Given the description of an element on the screen output the (x, y) to click on. 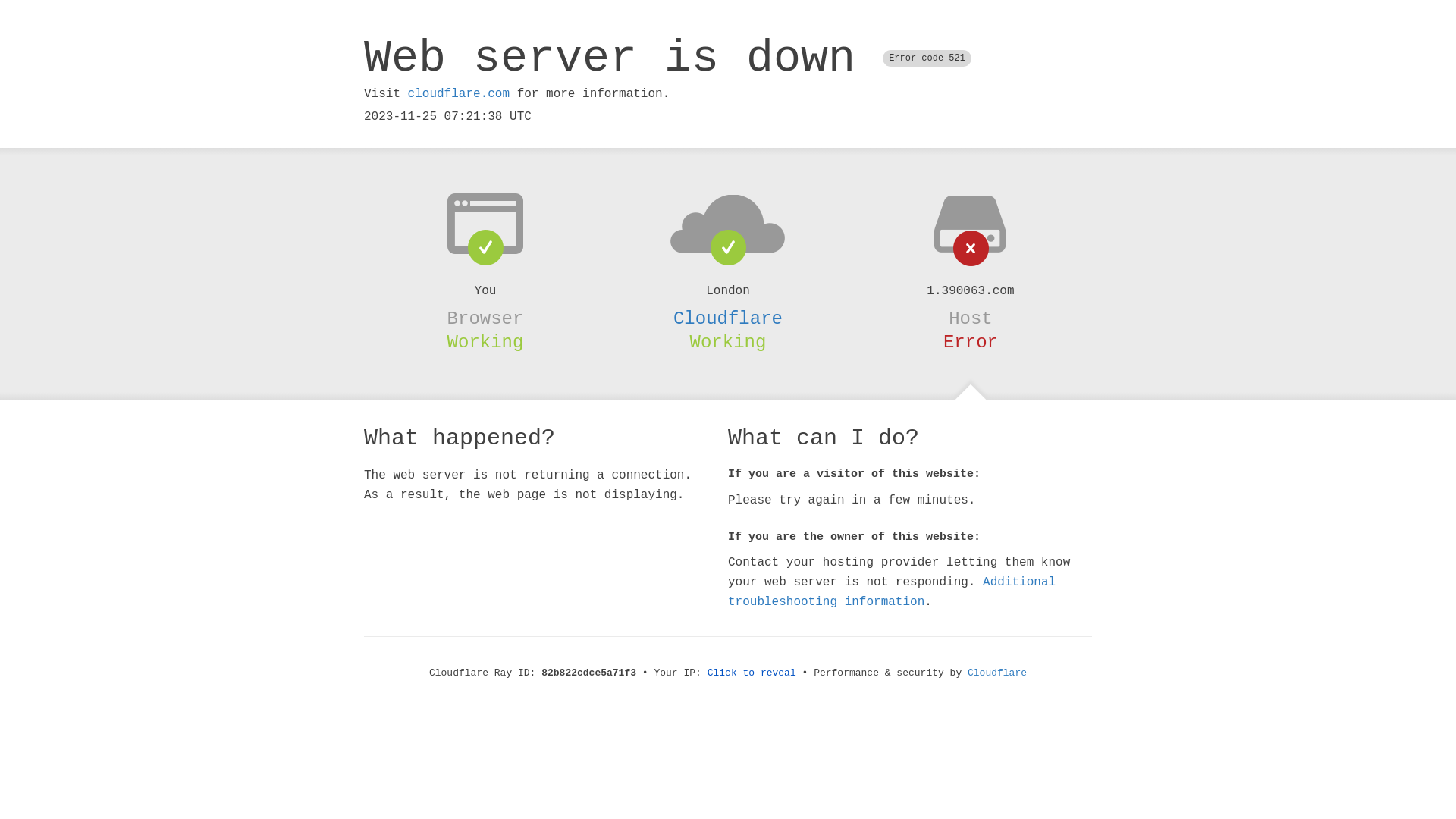
Additional troubleshooting information Element type: text (891, 591)
Cloudflare Element type: text (996, 672)
cloudflare.com Element type: text (458, 93)
Click to reveal Element type: text (751, 672)
Cloudflare Element type: text (727, 318)
